Given the description of an element on the screen output the (x, y) to click on. 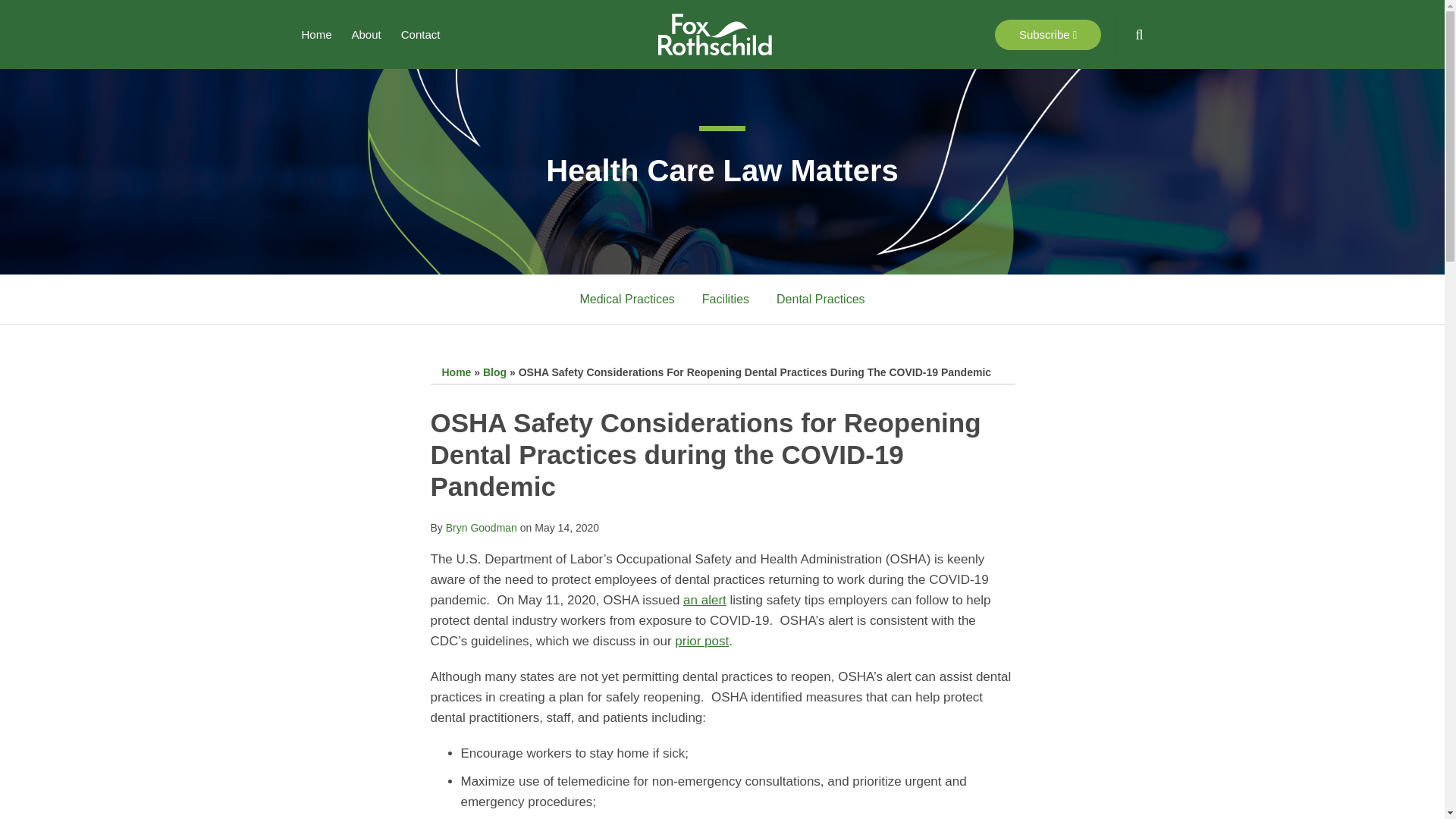
Blog (494, 372)
an alert (704, 599)
Facilities (725, 299)
Health Care Law Matters (722, 170)
Dental Practices (820, 299)
Subscribe (1047, 34)
Bryn Goodman (480, 527)
prior post (702, 640)
Home (316, 34)
Home (455, 372)
About (366, 34)
Medical Practices (626, 299)
Contact (421, 34)
